Given the description of an element on the screen output the (x, y) to click on. 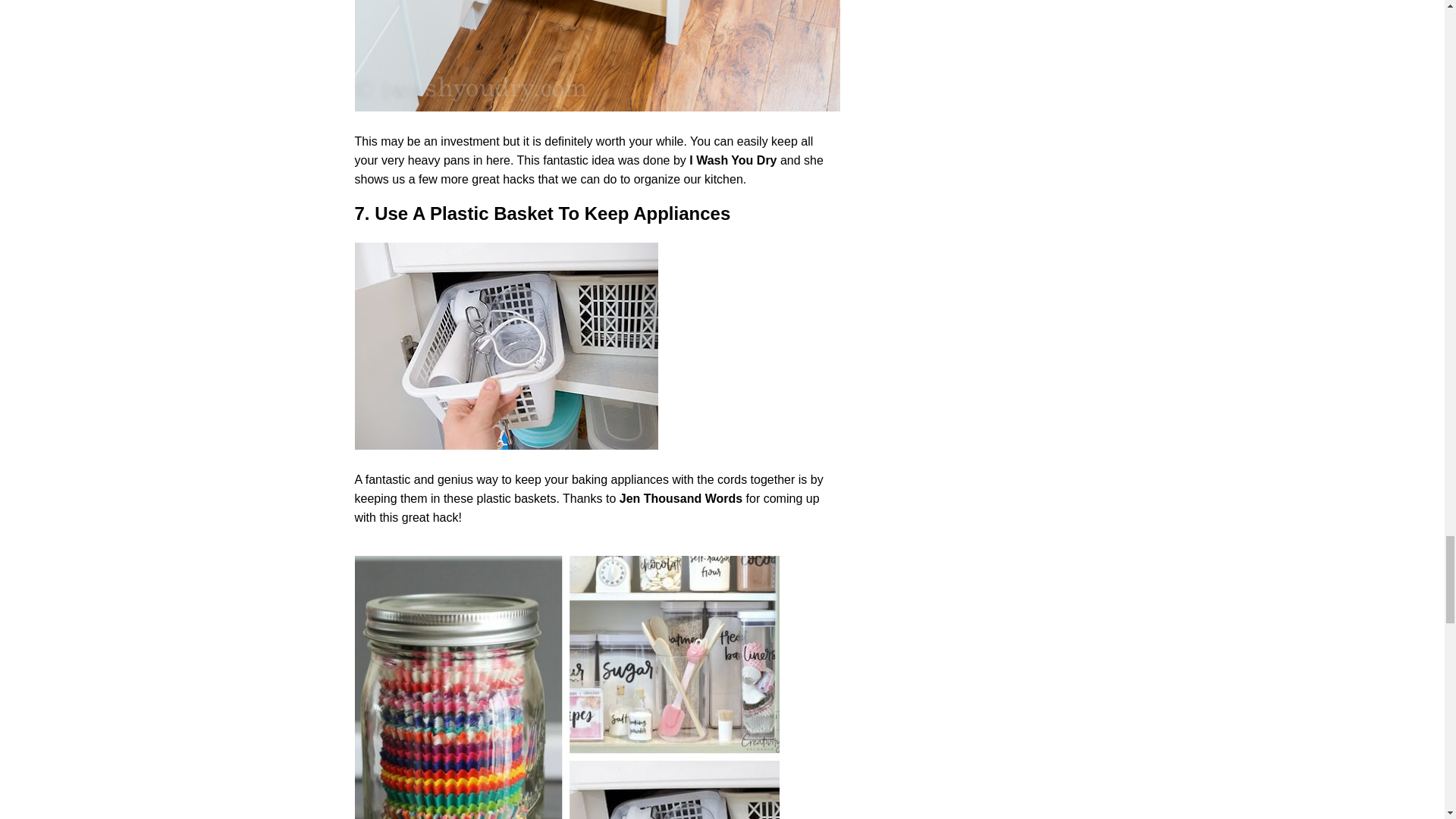
plastic baskets (516, 498)
7. Use A Plastic Basket To Keep Appliances (506, 345)
6. Install A Roll Out Cabinet (597, 55)
Jen Thousand Words (681, 498)
I Wash You Dry (732, 160)
